Given the description of an element on the screen output the (x, y) to click on. 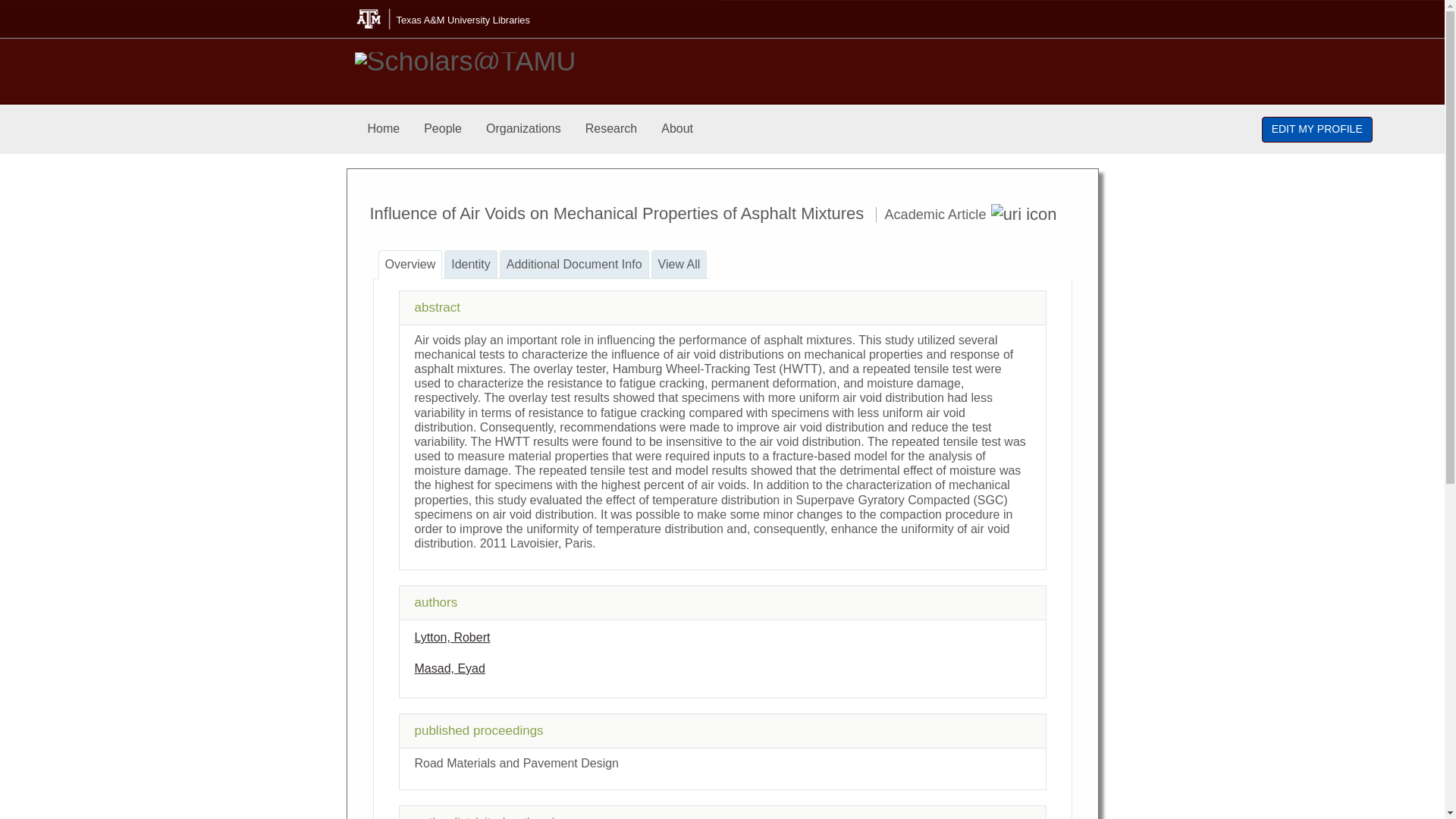
Organizations menu item (523, 128)
author name (448, 667)
Organizations (523, 128)
Masad, Eyad (448, 667)
People menu item (443, 128)
About (676, 128)
author name (451, 636)
Home menu item (383, 128)
Research (611, 128)
Lytton, Robert (451, 636)
